Given the description of an element on the screen output the (x, y) to click on. 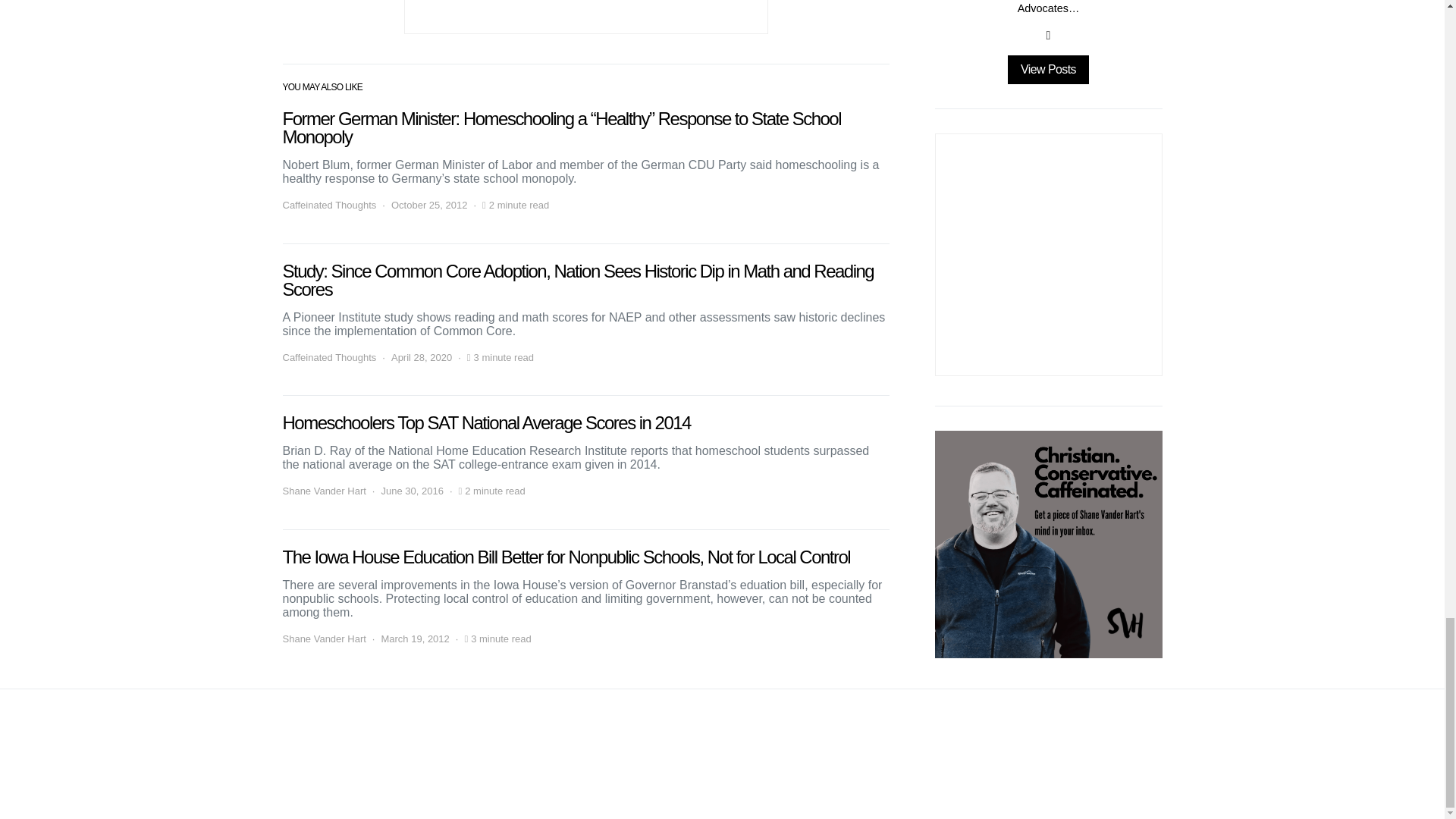
View all posts by Shane Vander Hart (323, 638)
View all posts by Shane Vander Hart (323, 491)
View all posts by Caffeinated Thoughts (328, 205)
View all posts by Caffeinated Thoughts (328, 357)
